Given the description of an element on the screen output the (x, y) to click on. 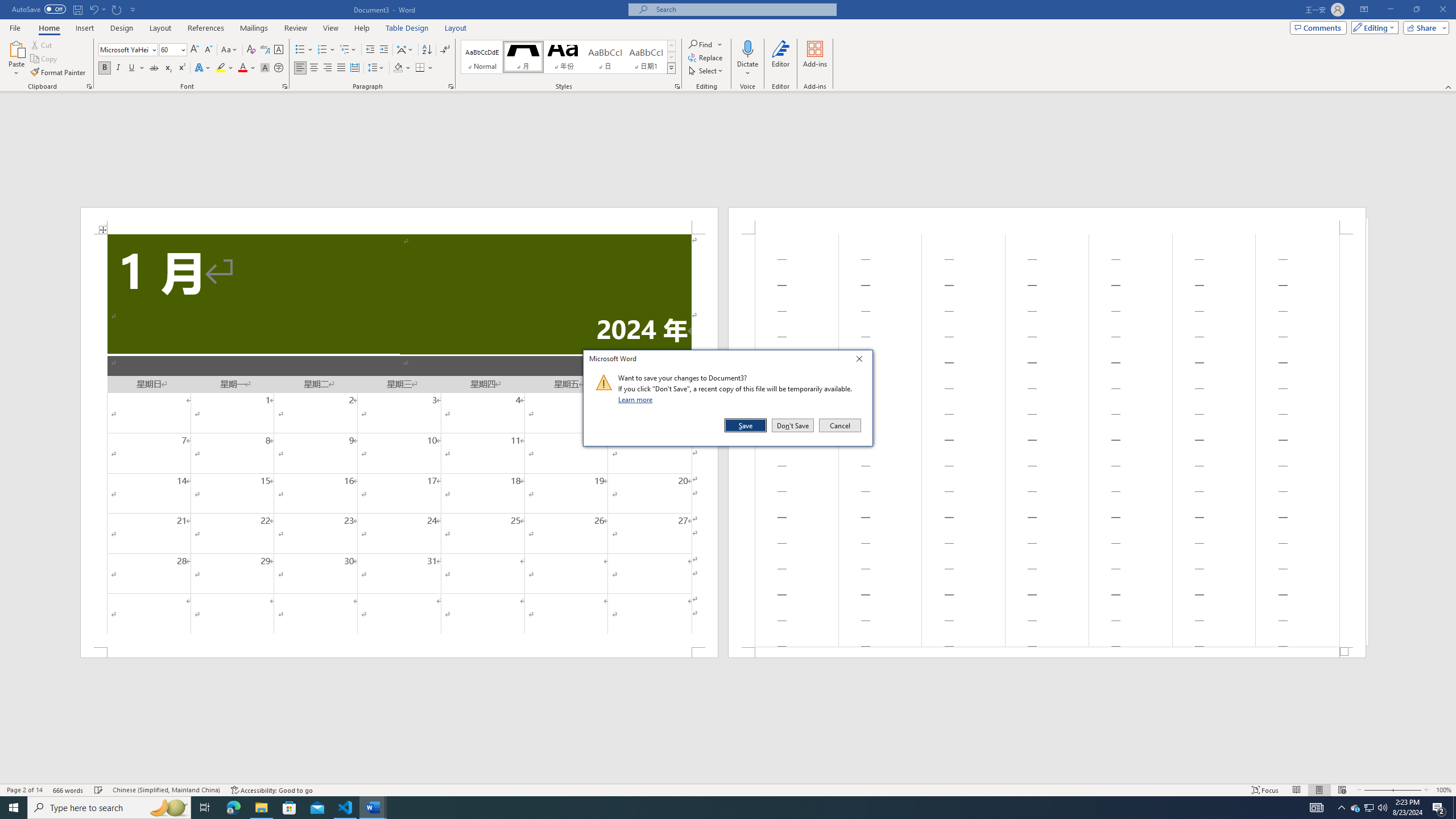
Learn more (636, 399)
Undo Apply Quick Style (92, 9)
